Given the description of an element on the screen output the (x, y) to click on. 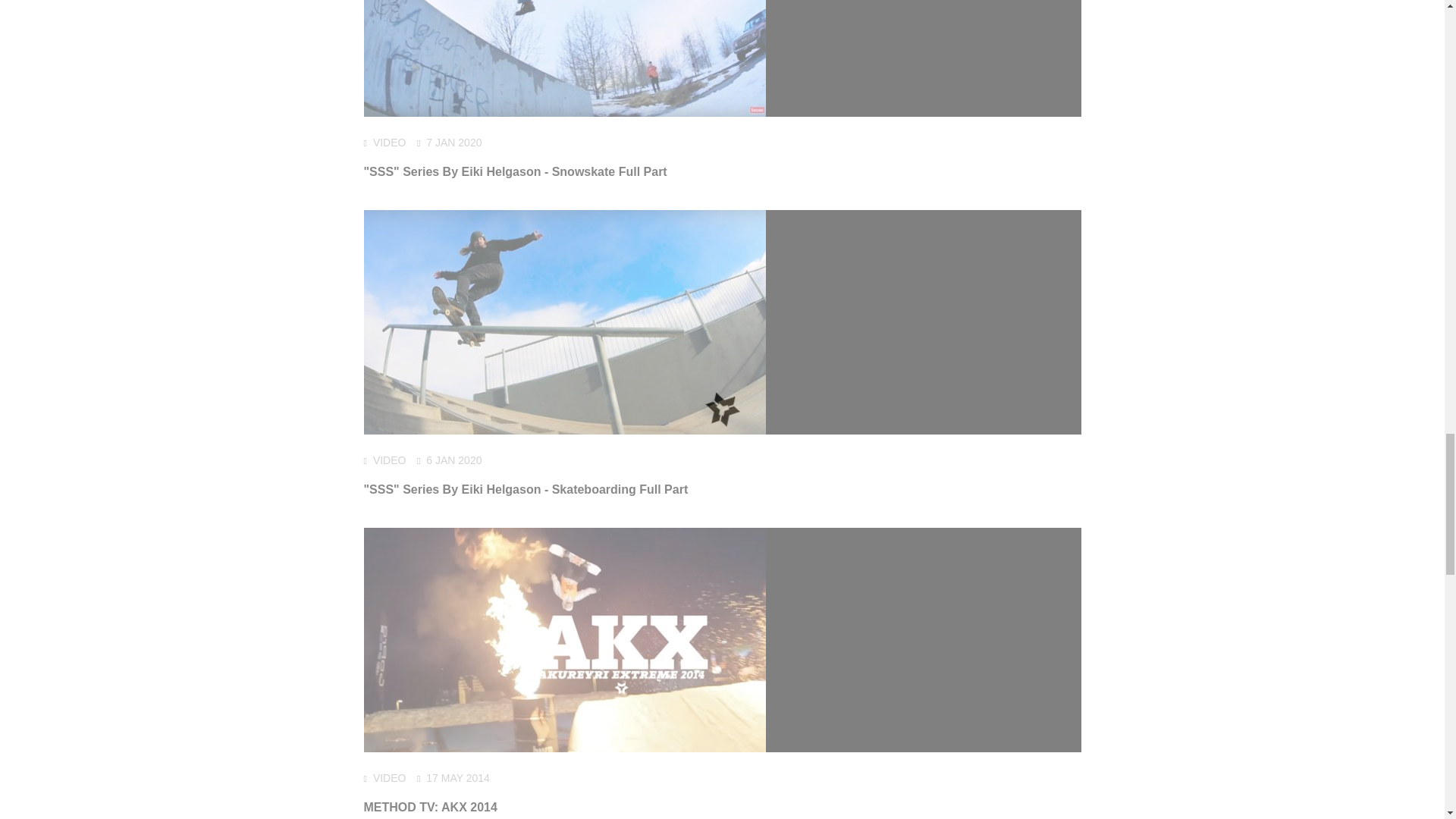
METHOD TV: AKX 2014 (430, 807)
"SSS" Series By Eiki Helgason - Skateboarding Full Part (526, 489)
METHOD TV: AKX 2014 (430, 807)
"SSS" Series By Eiki Helgason - Snowskate Full Part (515, 171)
